Given the description of an element on the screen output the (x, y) to click on. 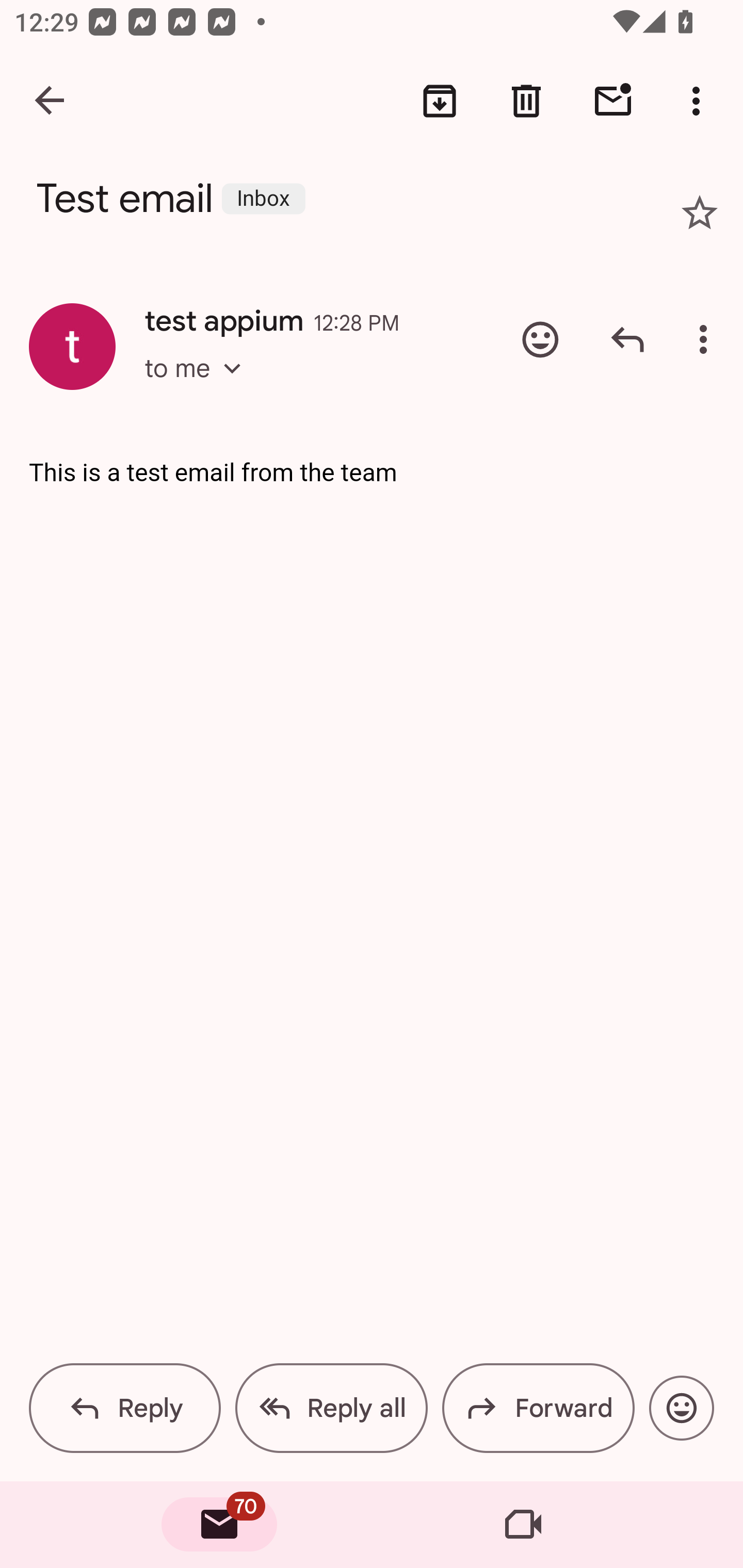
Navigate up (50, 101)
Archive (439, 101)
Delete (525, 101)
Mark unread (612, 101)
More options (699, 101)
Add star (699, 212)
Add emoji reaction (540, 339)
Reply (626, 339)
More options (706, 339)
Show contact information for test appium (71, 346)
to me (199, 386)
Reply (124, 1407)
Reply all (331, 1407)
Forward (538, 1407)
Add emoji reaction (681, 1407)
Meet (523, 1524)
